Given the description of an element on the screen output the (x, y) to click on. 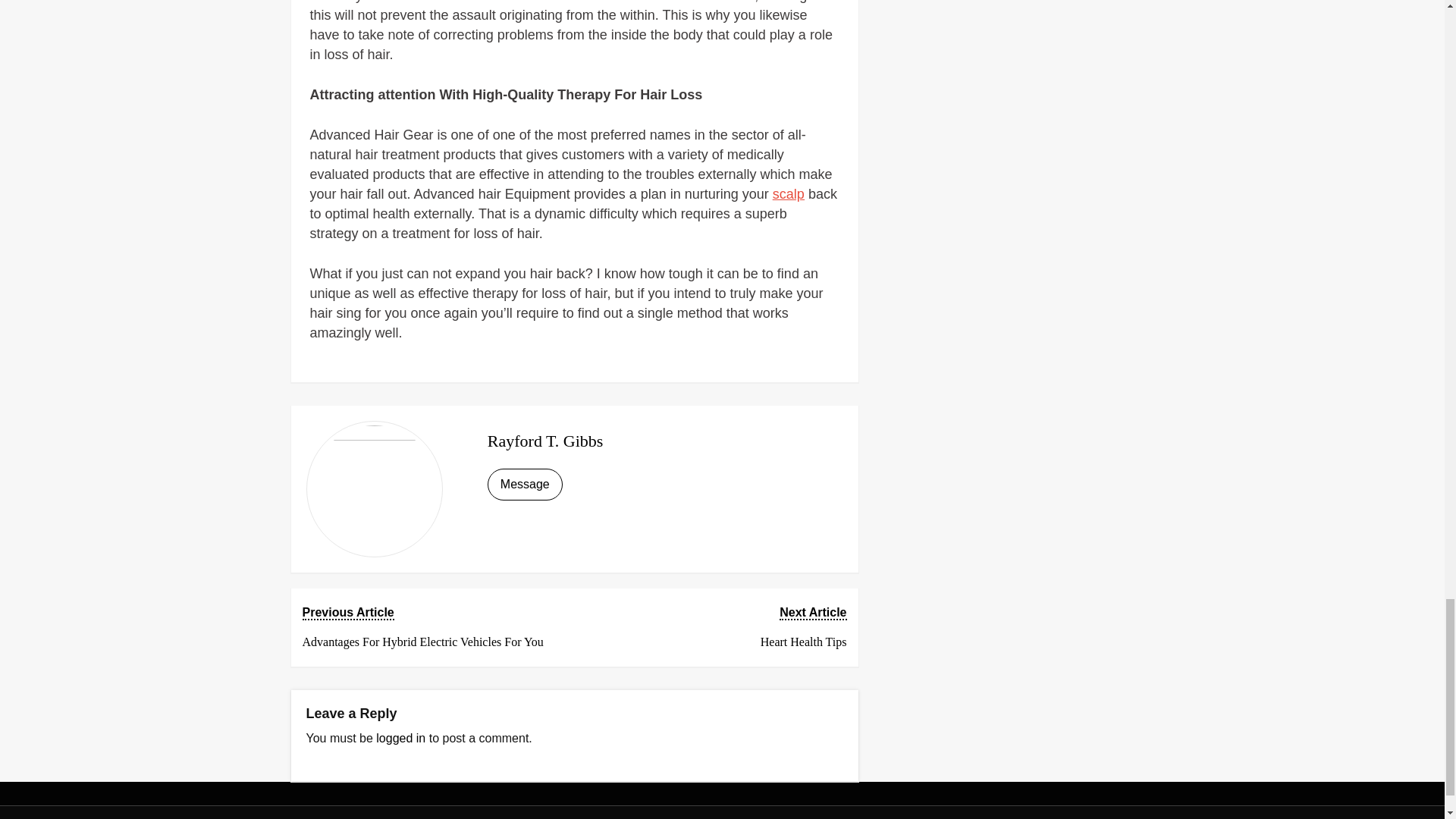
Rayford T. Gibbs (545, 440)
scalp (789, 193)
Message (524, 484)
Posts by Rayford T. Gibbs (545, 440)
logged in (400, 738)
